Given the description of an element on the screen output the (x, y) to click on. 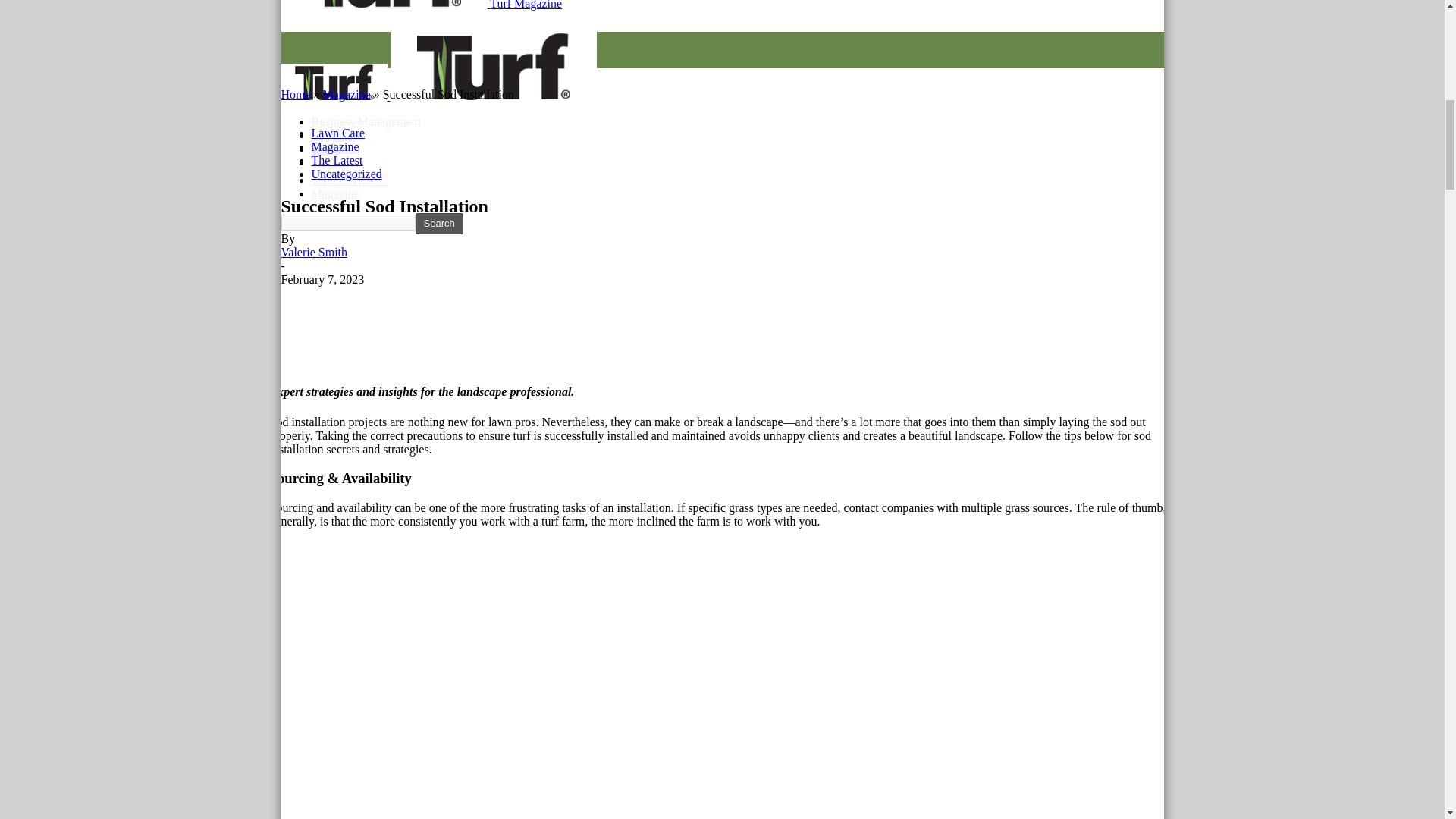
Search (438, 223)
Turf Magazine (383, 3)
Turf Magazine (334, 81)
Turf Magazine (492, 65)
